Given the description of an element on the screen output the (x, y) to click on. 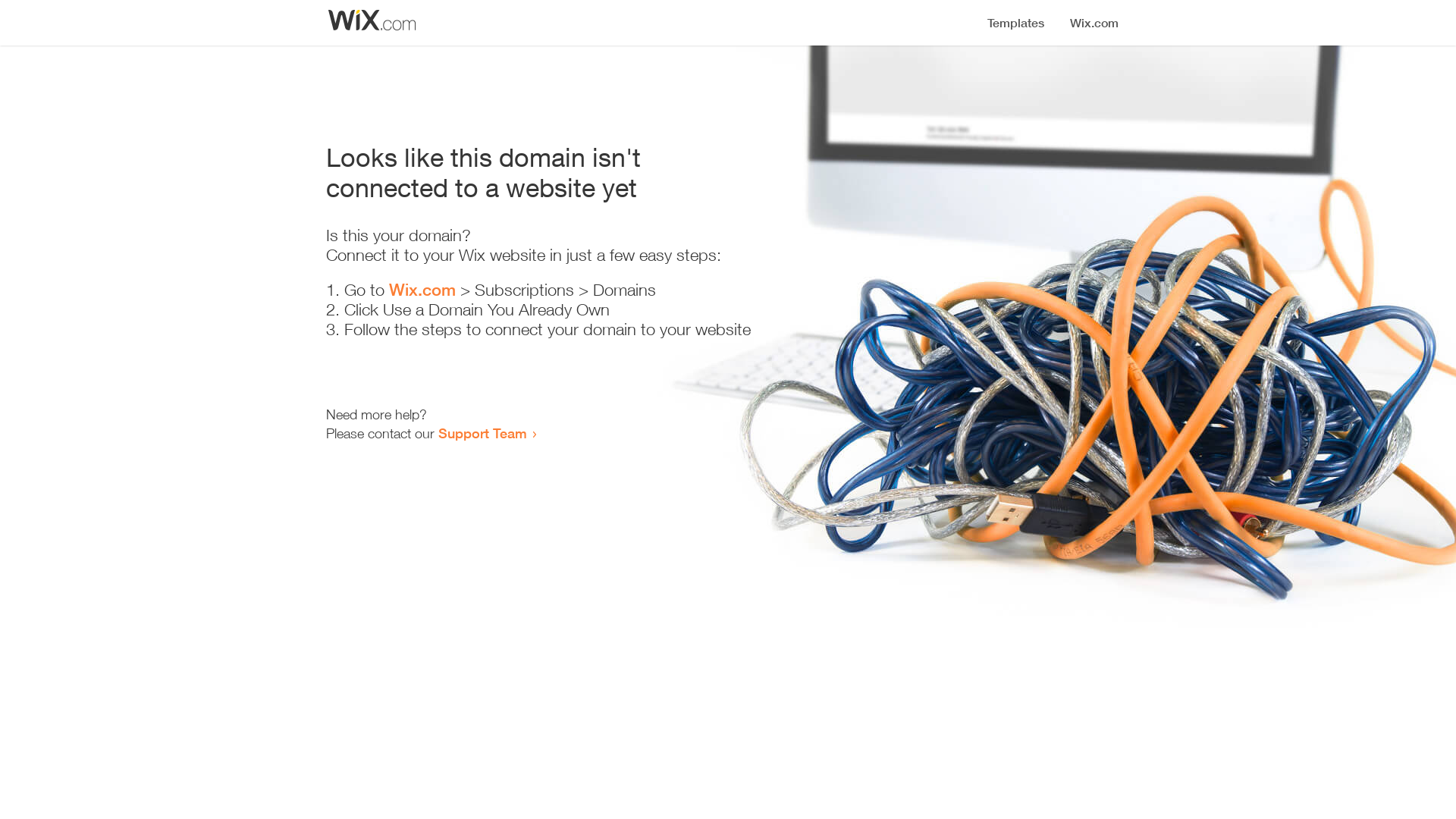
Support Team Element type: text (482, 432)
Wix.com Element type: text (422, 289)
